Given the description of an element on the screen output the (x, y) to click on. 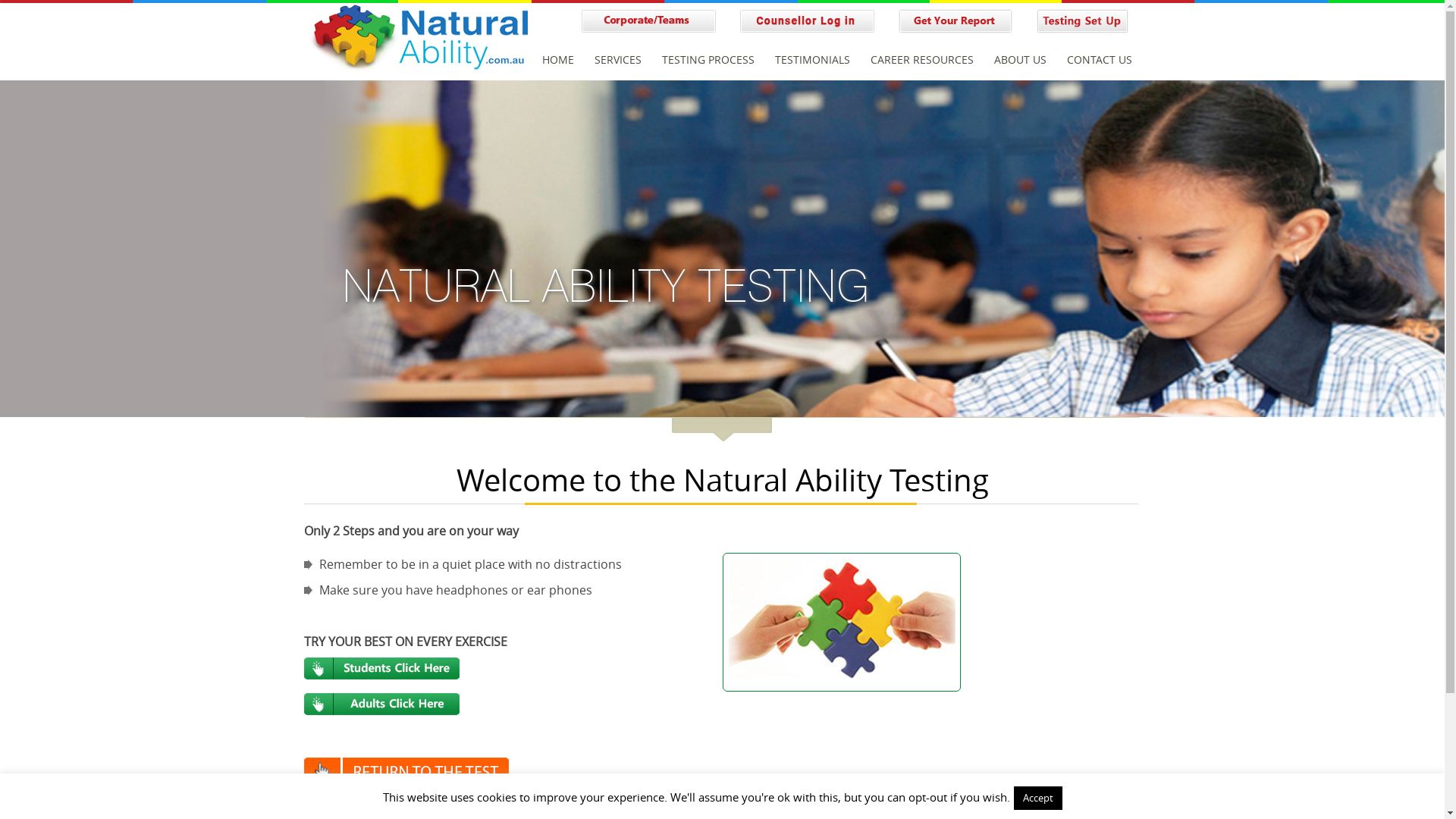
CONTACT US Element type: text (1098, 59)
HOME Element type: text (557, 59)
TESTIMONIALS Element type: text (812, 59)
CAREER RESOURCES Element type: text (921, 59)
Accept Element type: text (1037, 797)
SERVICES Element type: text (617, 59)
TESTING PROCESS Element type: text (707, 59)
ABOUT US Element type: text (1019, 59)
